Given the description of an element on the screen output the (x, y) to click on. 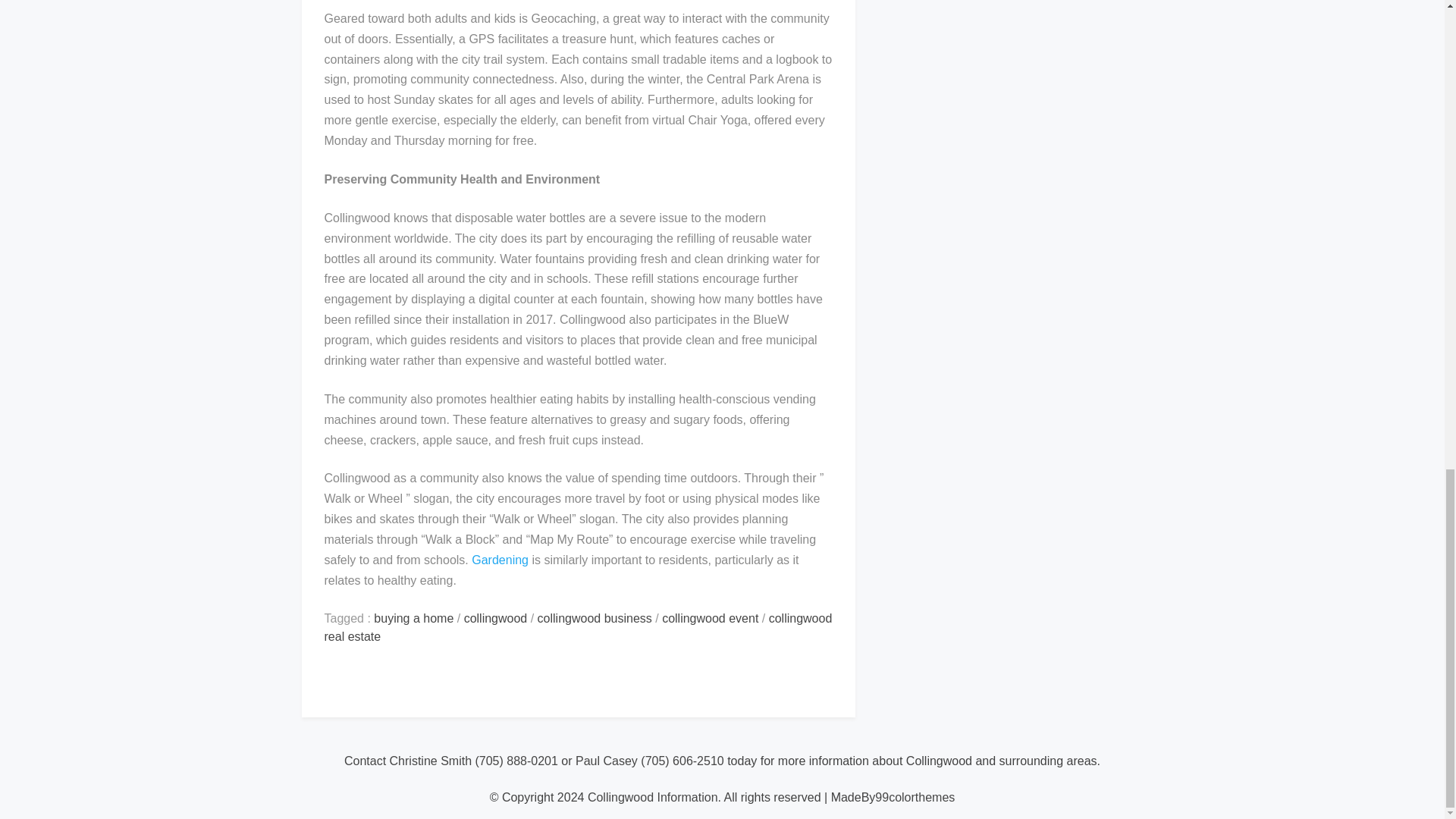
collingwood (495, 617)
collingwood real estate (578, 626)
99colorthemes (915, 797)
Collingwood Information (652, 797)
Paul Casey (606, 760)
collingwood event (710, 617)
collingwood business (594, 617)
Gardening (499, 559)
buying a home (413, 617)
Contact Christine Smith (407, 760)
